Given the description of an element on the screen output the (x, y) to click on. 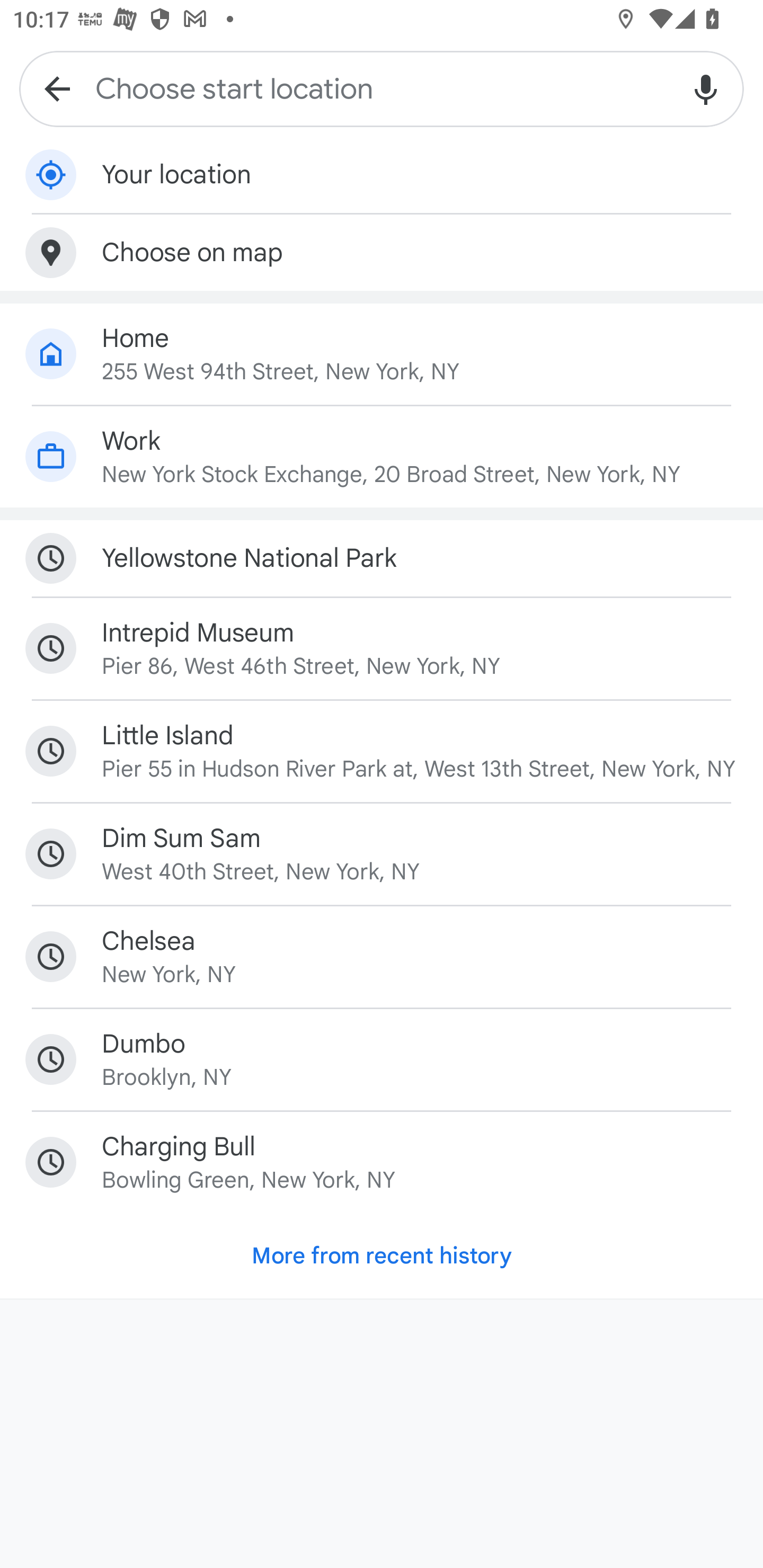
Navigate up (57, 88)
Choose start location (381, 88)
Voice search (705, 88)
Your location (381, 174)
Choose on map (381, 252)
Home 255 West 94th Street, New York, NY (381, 354)
Yellowstone National Park (381, 557)
Dim Sum Sam West 40th Street, New York, NY (381, 853)
Chelsea New York, NY (381, 957)
Dumbo Brooklyn, NY (381, 1059)
Charging Bull Bowling Green, New York, NY (381, 1162)
More from recent history (381, 1255)
